Given the description of an element on the screen output the (x, y) to click on. 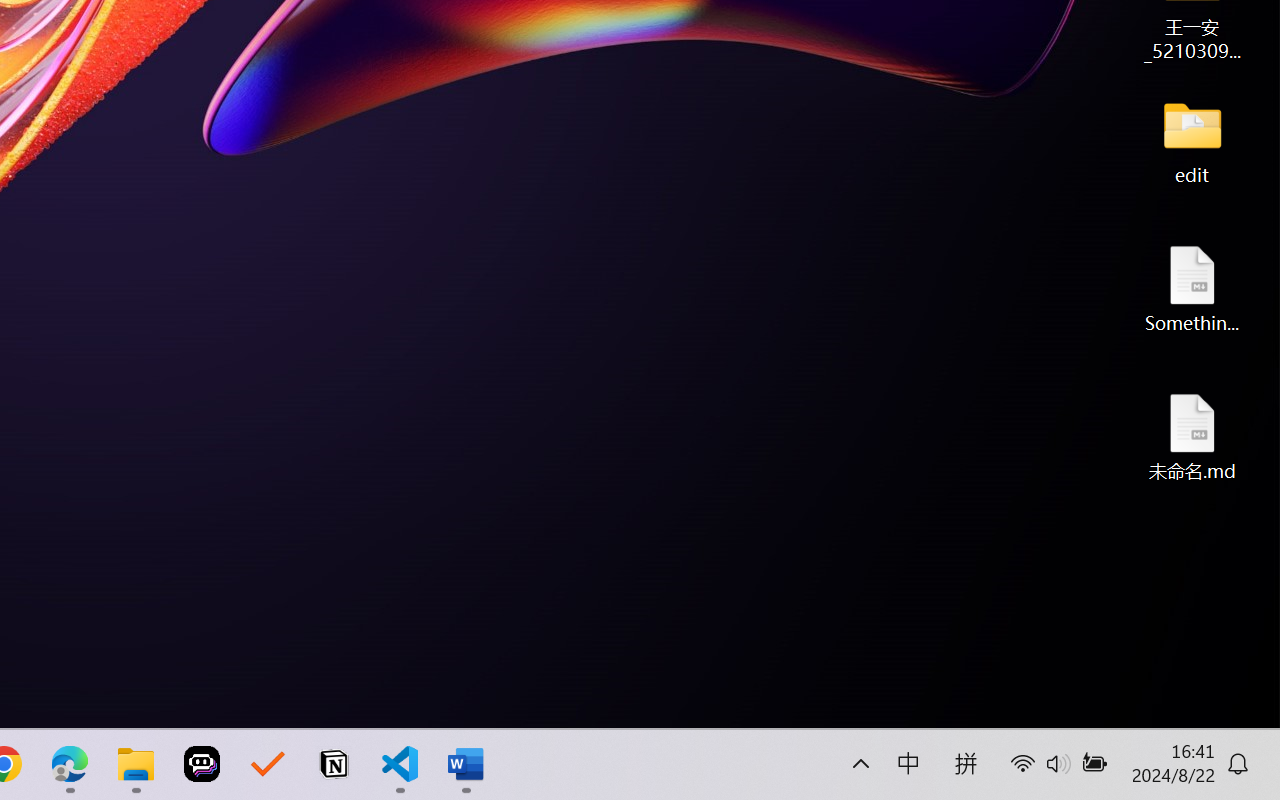
Something.md (1192, 288)
Poe (201, 764)
